Given the description of an element on the screen output the (x, y) to click on. 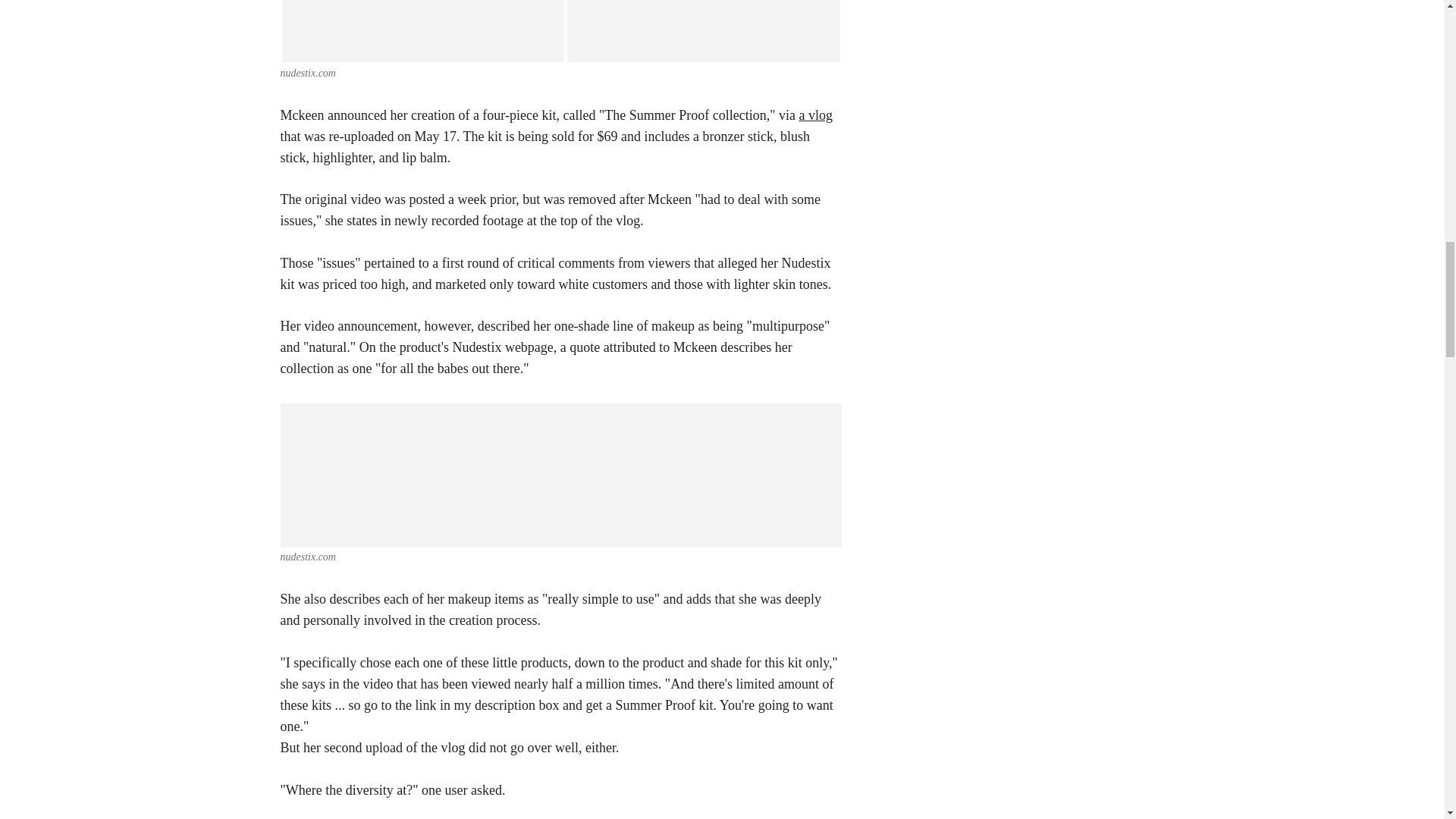
a vlog (815, 114)
nudestix.com (308, 72)
nudestix.com (308, 556)
